Given the description of an element on the screen output the (x, y) to click on. 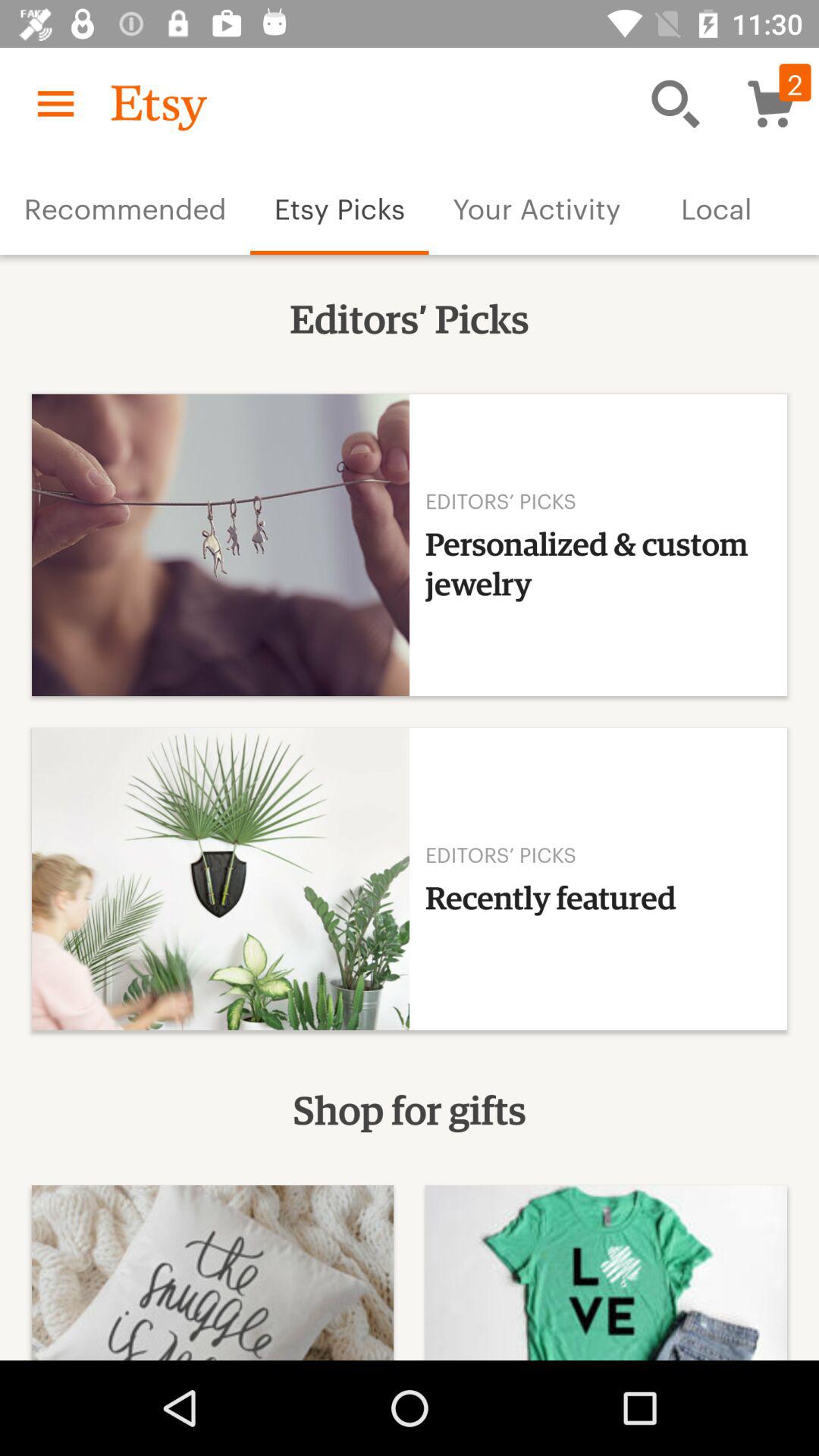
click on the first image at bottom left corner (212, 1272)
select the item below the text editors picks on the web page (409, 544)
